Given the description of an element on the screen output the (x, y) to click on. 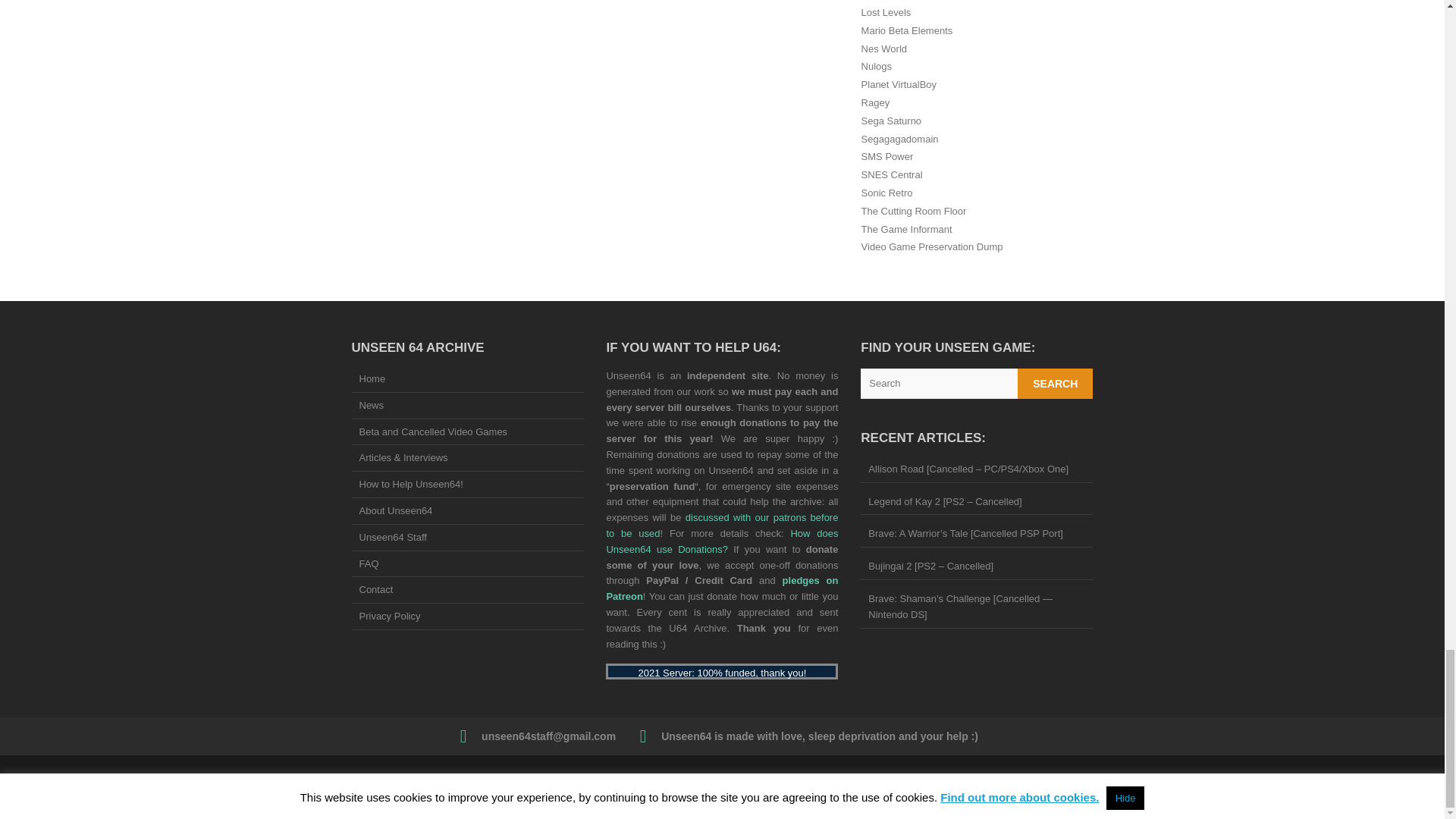
Search (1055, 383)
Search (1055, 383)
